Given the description of an element on the screen output the (x, y) to click on. 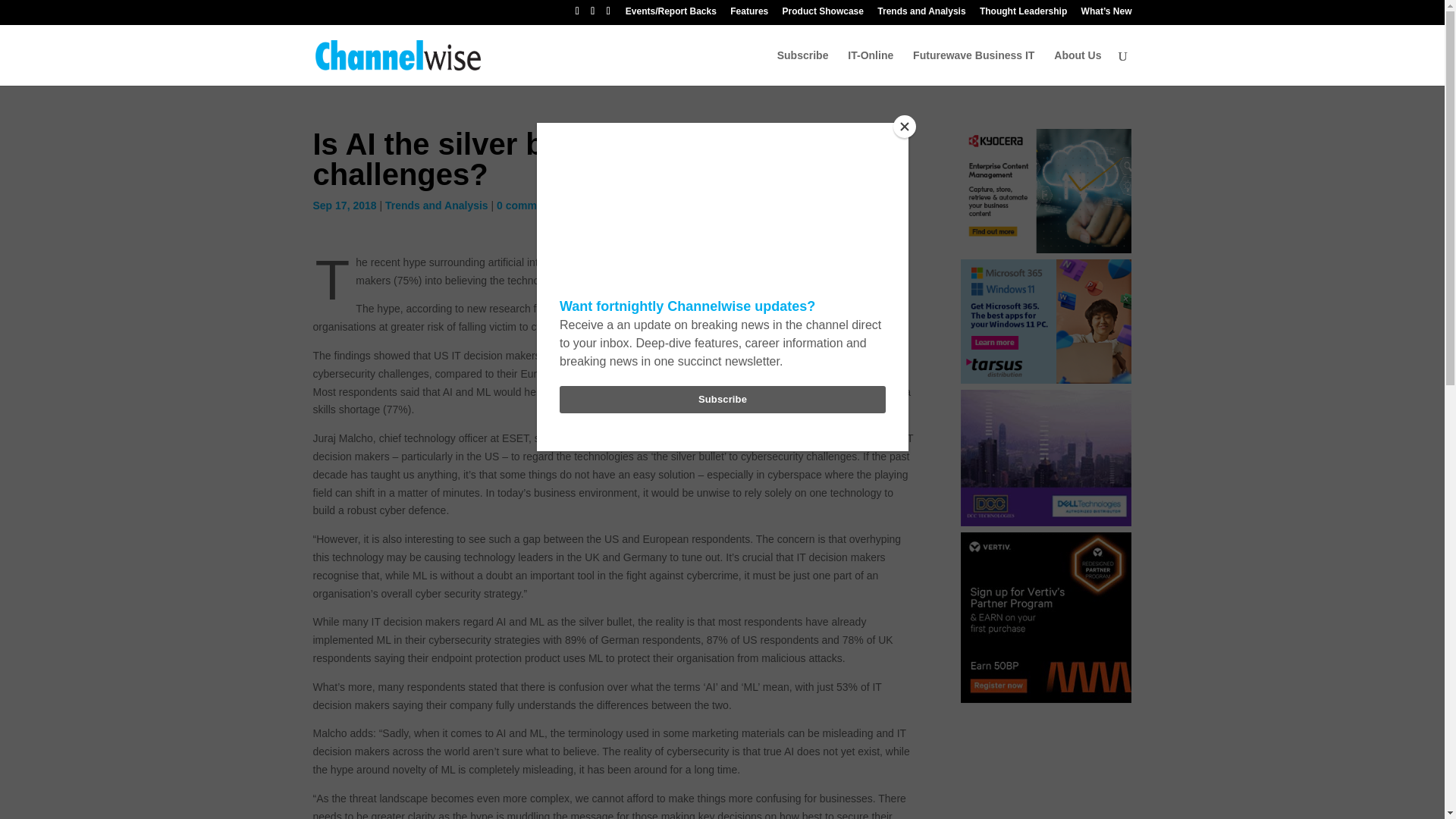
0 comments (527, 205)
Thought Leadership (1023, 14)
Trends and Analysis (436, 205)
Futurewave Business IT (972, 67)
IT-Online (870, 67)
Features (749, 14)
Trends and Analysis (921, 14)
Subscribe (802, 67)
Product Showcase (823, 14)
About Us (1077, 67)
